Given the description of an element on the screen output the (x, y) to click on. 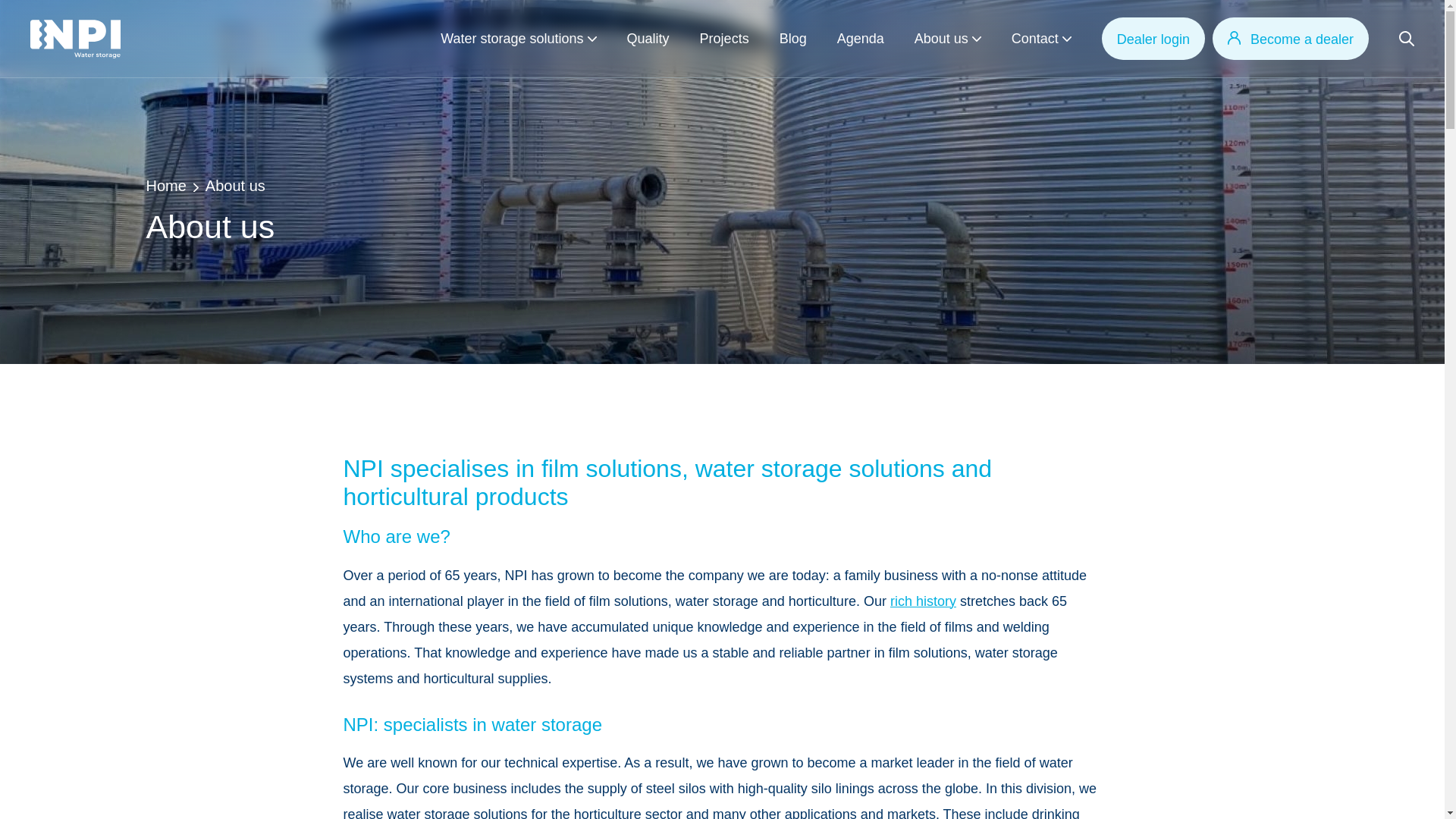
Quality (648, 37)
Blog (792, 37)
Projects (724, 37)
Dealer login (1153, 38)
Become a dealer (1290, 38)
Become a dealer (1290, 38)
Agenda (860, 37)
About us (941, 38)
Contact (1034, 38)
Water storage solutions (512, 38)
Dealer login (1153, 38)
